Given the description of an element on the screen output the (x, y) to click on. 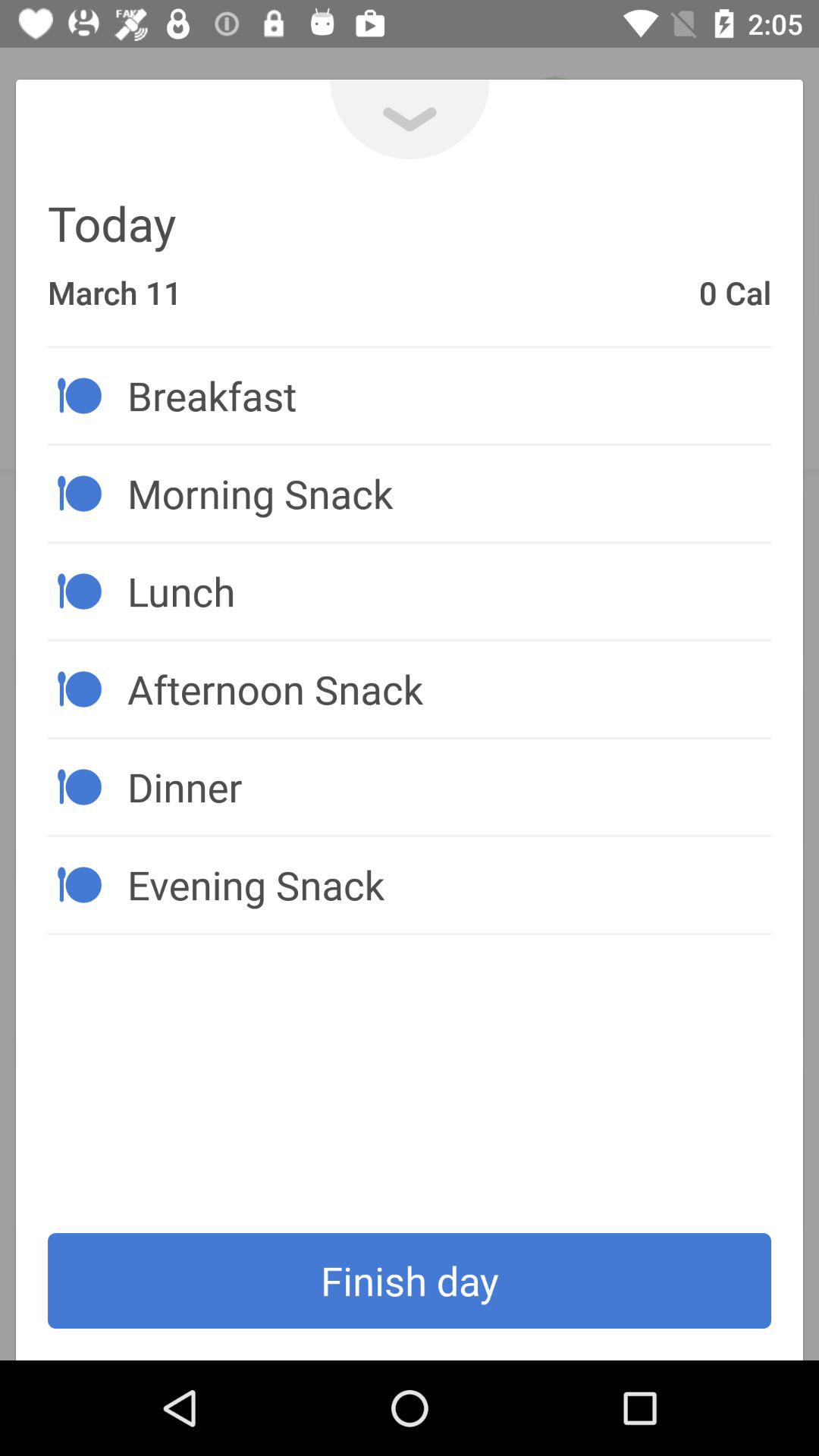
swipe until the dinner item (449, 786)
